Given the description of an element on the screen output the (x, y) to click on. 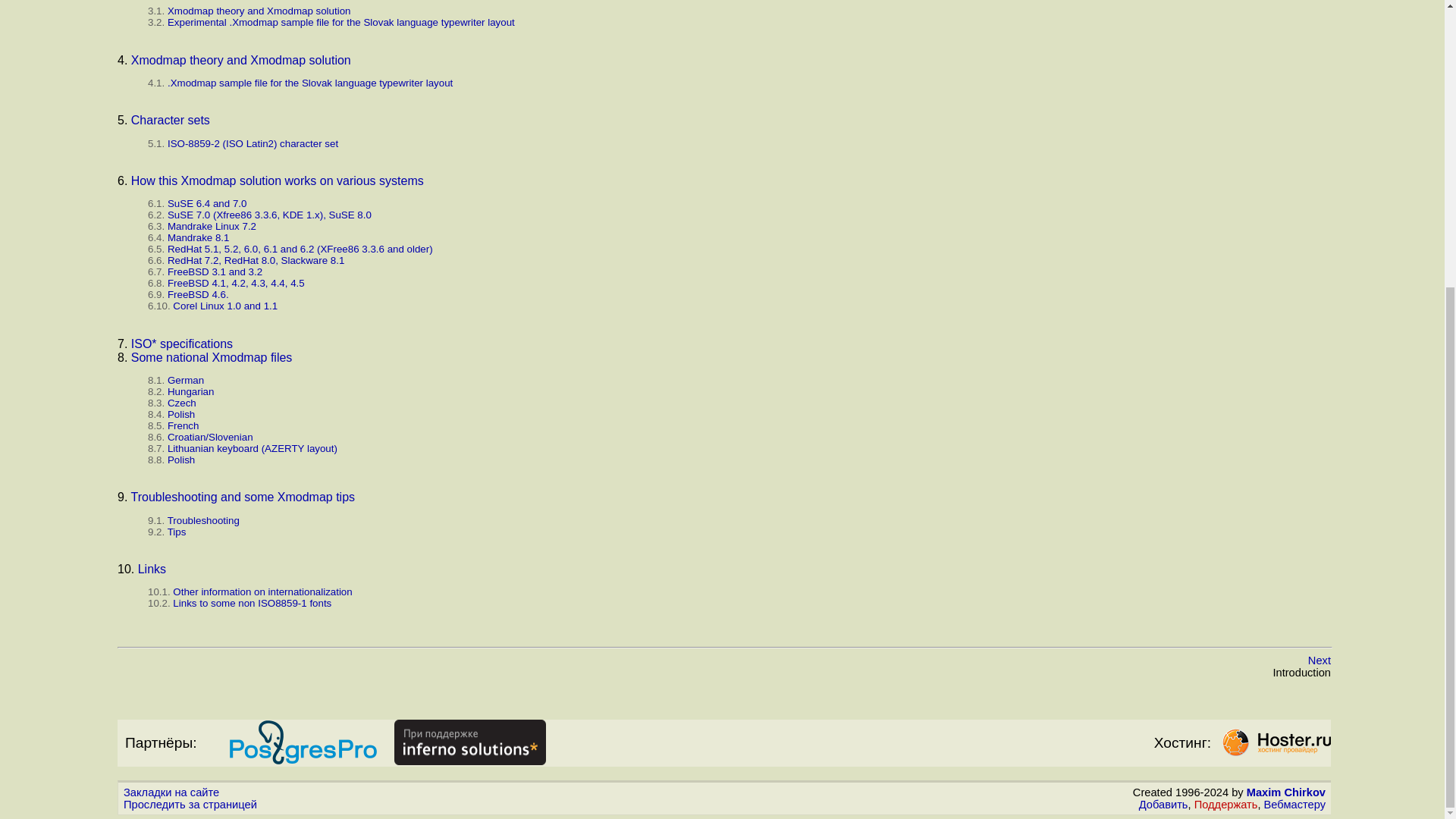
Xmodmap theory and Xmodmap solution (258, 10)
Xmodmap theory and Xmodmap solution (240, 60)
